Given the description of an element on the screen output the (x, y) to click on. 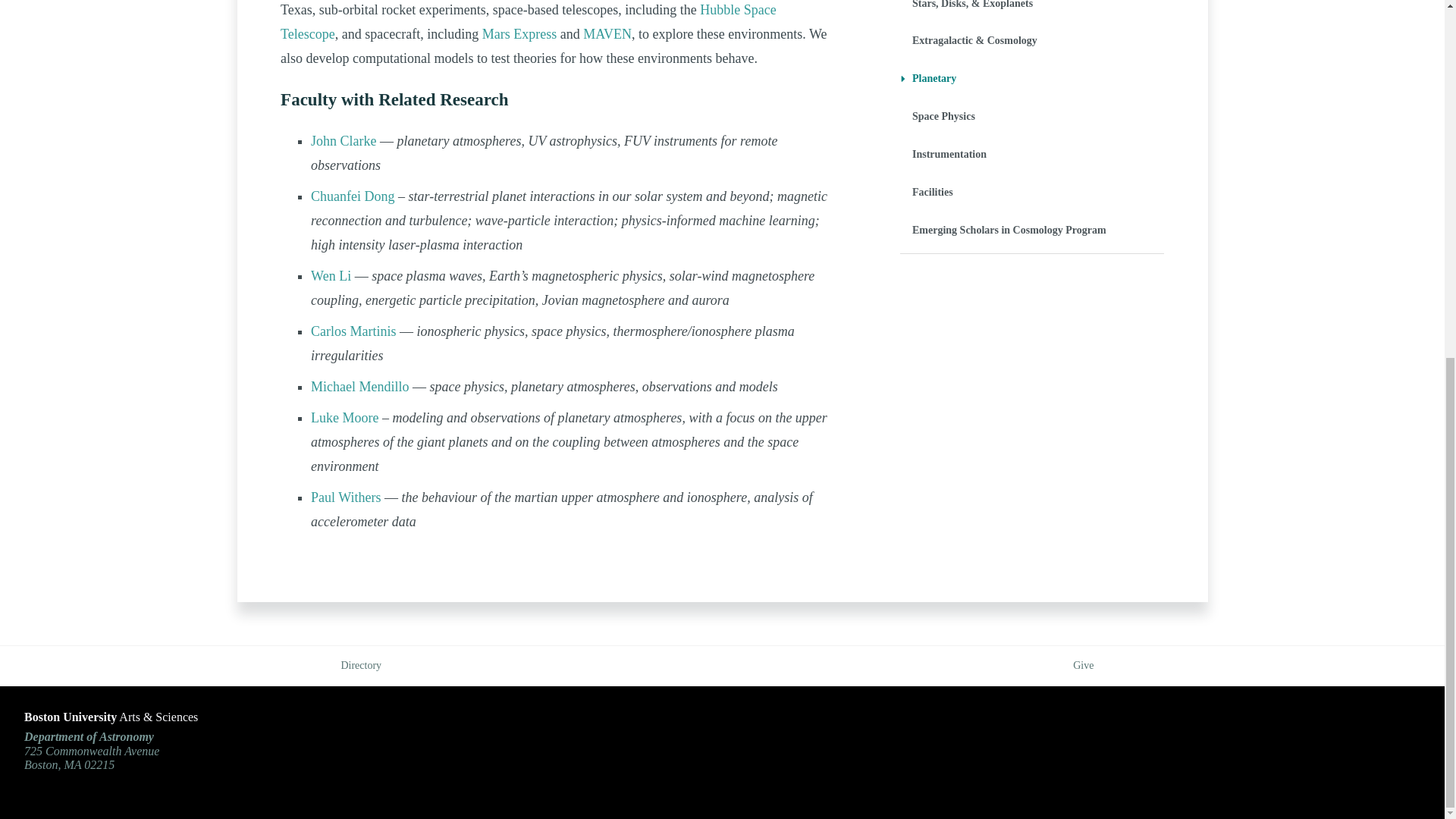
Hubble Space Telescope (528, 21)
Mars Express (518, 33)
